Given the description of an element on the screen output the (x, y) to click on. 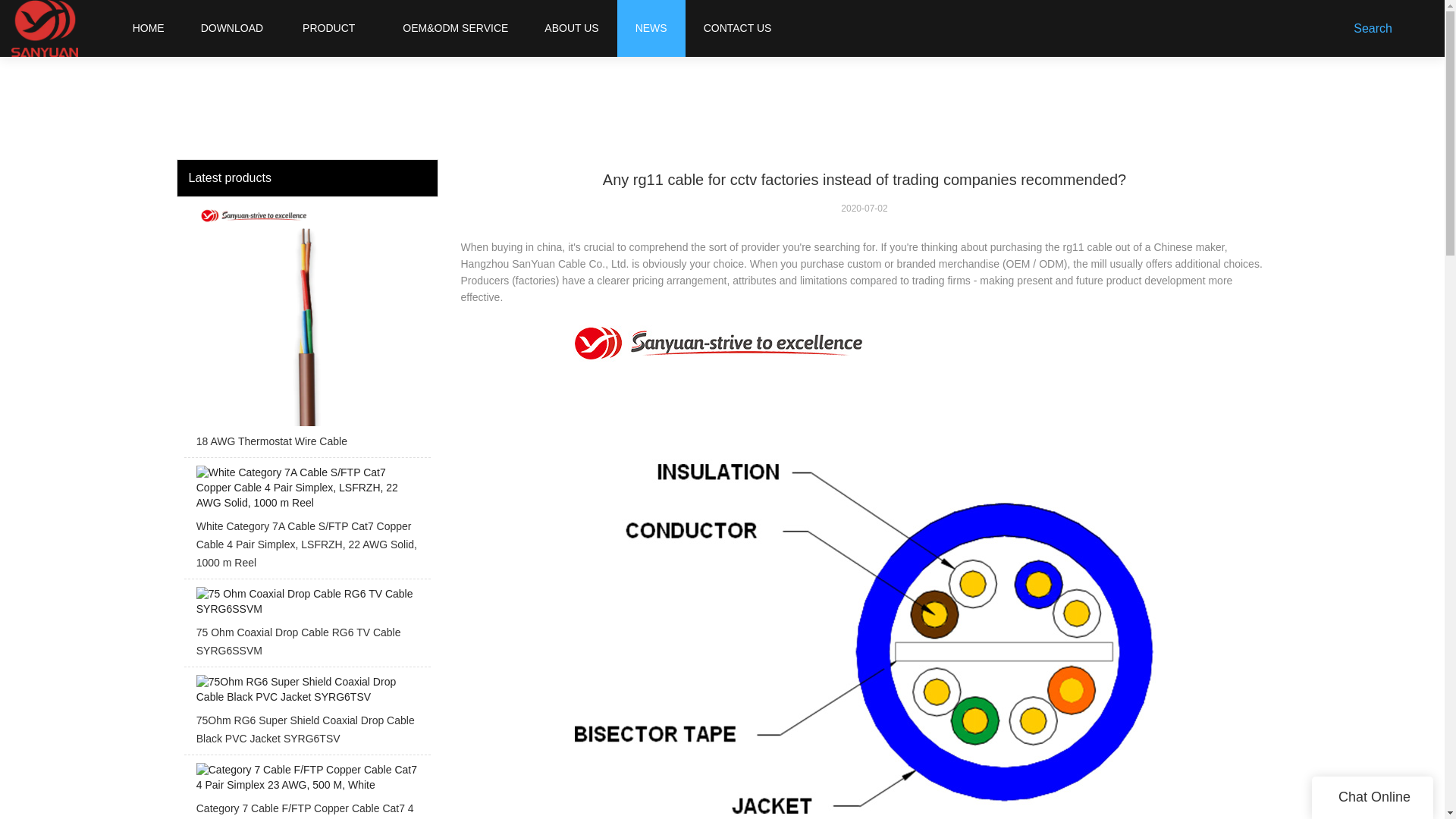
75 Ohm Coaxial Drop Cable RG6 TV Cable SYRG6SSVM (306, 626)
18 AWG Thermostat Wire Cable (306, 330)
ABOUT US (571, 28)
Search   (1375, 28)
CONTACT US (737, 28)
PRODUCT (328, 28)
NEWS (650, 28)
DOWNLOAD (231, 28)
HOME (148, 28)
